Given the description of an element on the screen output the (x, y) to click on. 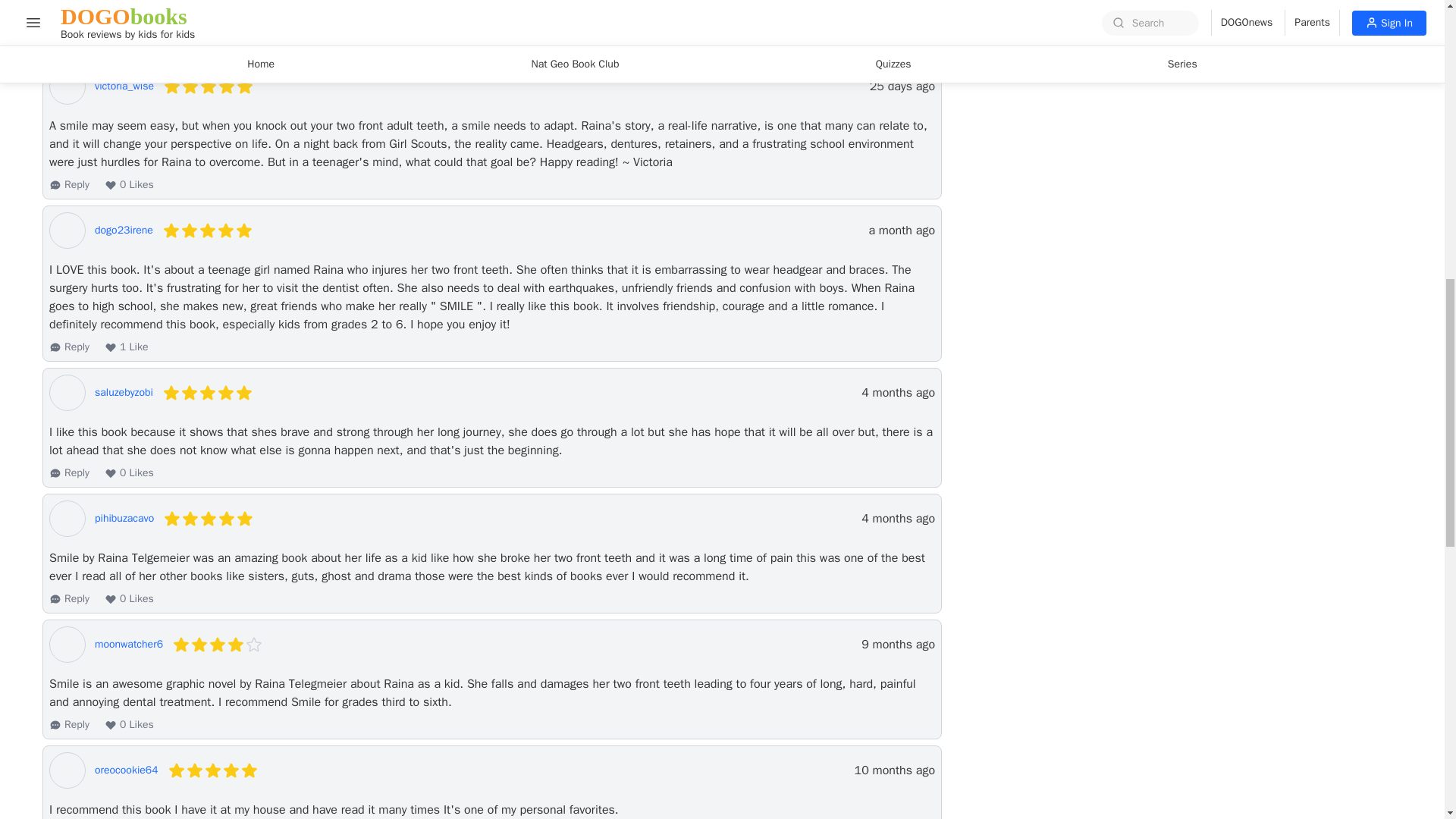
1 Like (126, 40)
July 21, 2024 (900, 230)
oreocookie64 (126, 770)
saluzebyzobi (123, 392)
Reply (68, 598)
moonwatcher6 (128, 644)
0 Likes (129, 724)
Reply (68, 473)
0 Likes (129, 598)
December 14, 2023 (897, 644)
